Given the description of an element on the screen output the (x, y) to click on. 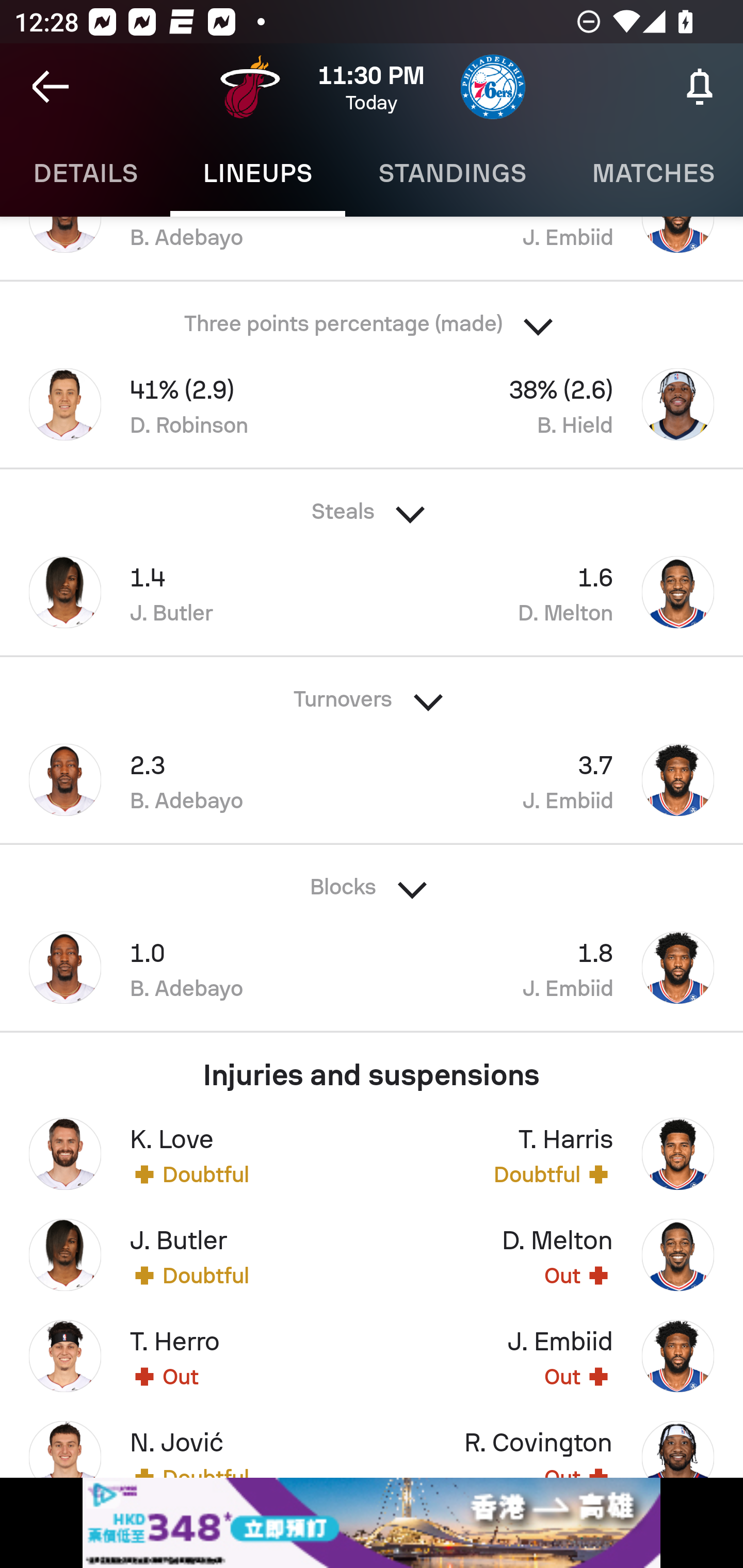
Navigate up (50, 86)
Details DETAILS (85, 173)
Standings STANDINGS (451, 173)
Matches MATCHES (650, 173)
Three points percentage (made) (371, 318)
41% (2.9) D. Robinson (185, 404)
38% (2.6) B. Hield (557, 404)
Steals (371, 504)
1.4 J. Butler (185, 591)
1.6 D. Melton (557, 591)
Turnovers (371, 692)
2.3 B. Adebayo (185, 780)
3.7 J. Embiid (557, 780)
Blocks (371, 881)
1.0 B. Adebayo (185, 967)
1.8 J. Embiid (557, 967)
K. Love Doubtful (185, 1153)
T. Harris Doubtful (557, 1153)
J. Butler Doubtful (185, 1255)
D. Melton Out (557, 1255)
T. Herro Out (185, 1356)
J. Embiid Out (557, 1356)
N. Jović Doubtful (185, 1441)
R. Covington Out (557, 1441)
2ph9hx2a_320x50 (371, 1522)
